Given the description of an element on the screen output the (x, y) to click on. 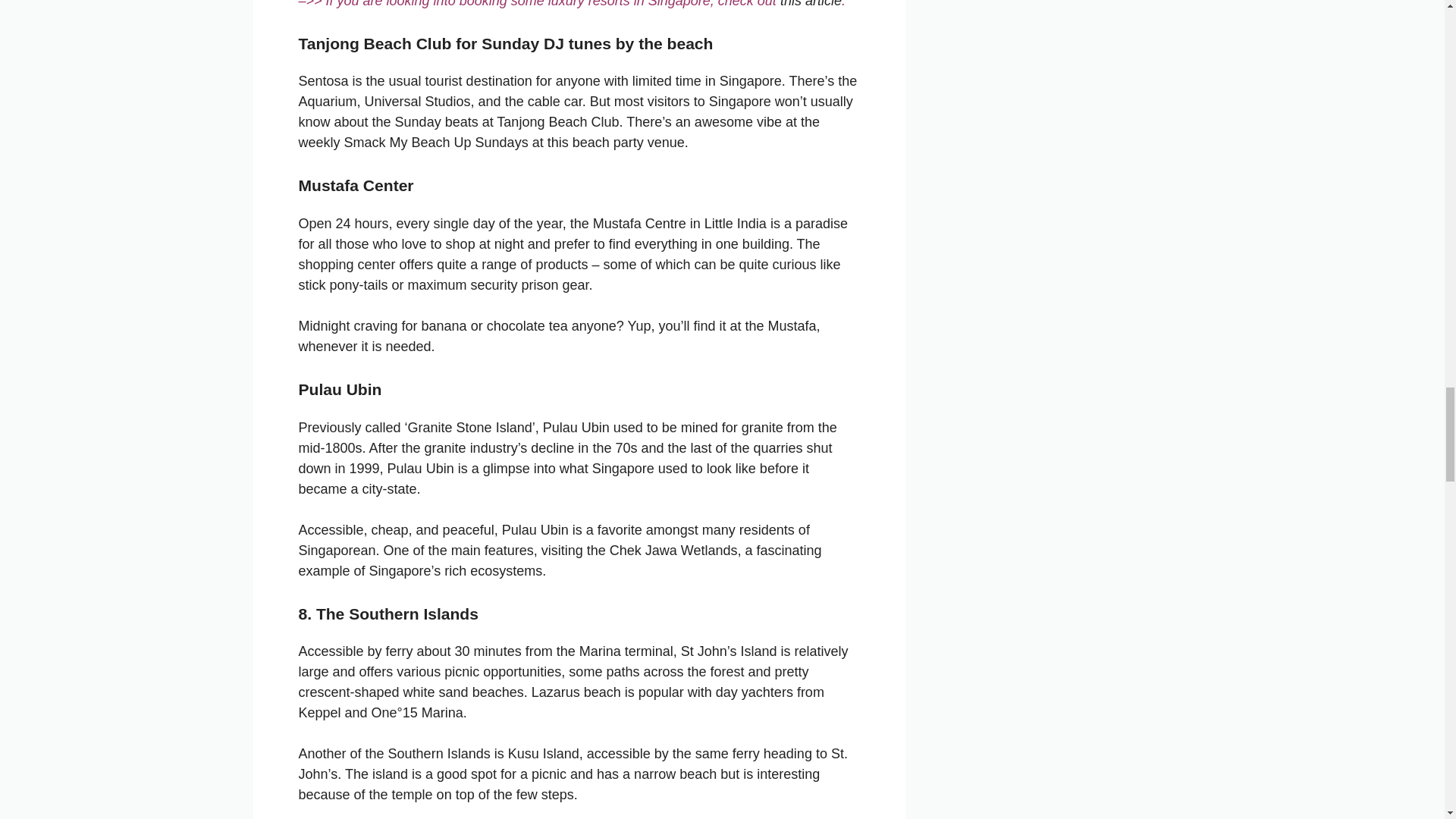
Mustafa Centre (638, 223)
Little India (735, 223)
this article (810, 4)
